Given the description of an element on the screen output the (x, y) to click on. 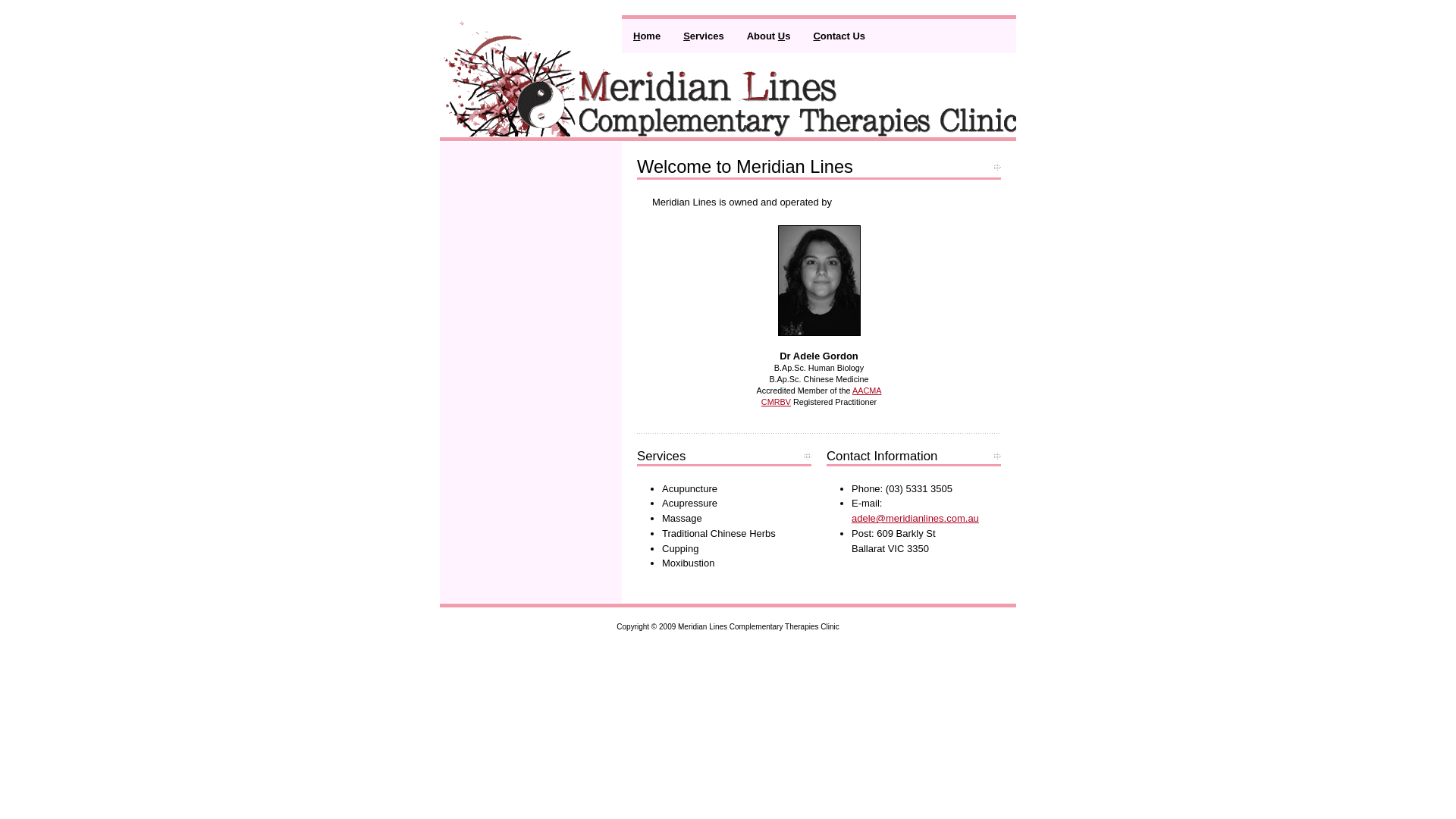
AACMA Element type: text (866, 389)
CMRBV Element type: text (775, 401)
adele@meridianlines.com.au Element type: text (915, 518)
Contact Us Element type: text (838, 34)
Home Element type: text (646, 34)
About Us Element type: text (768, 34)
Services Element type: text (703, 34)
